Given the description of an element on the screen output the (x, y) to click on. 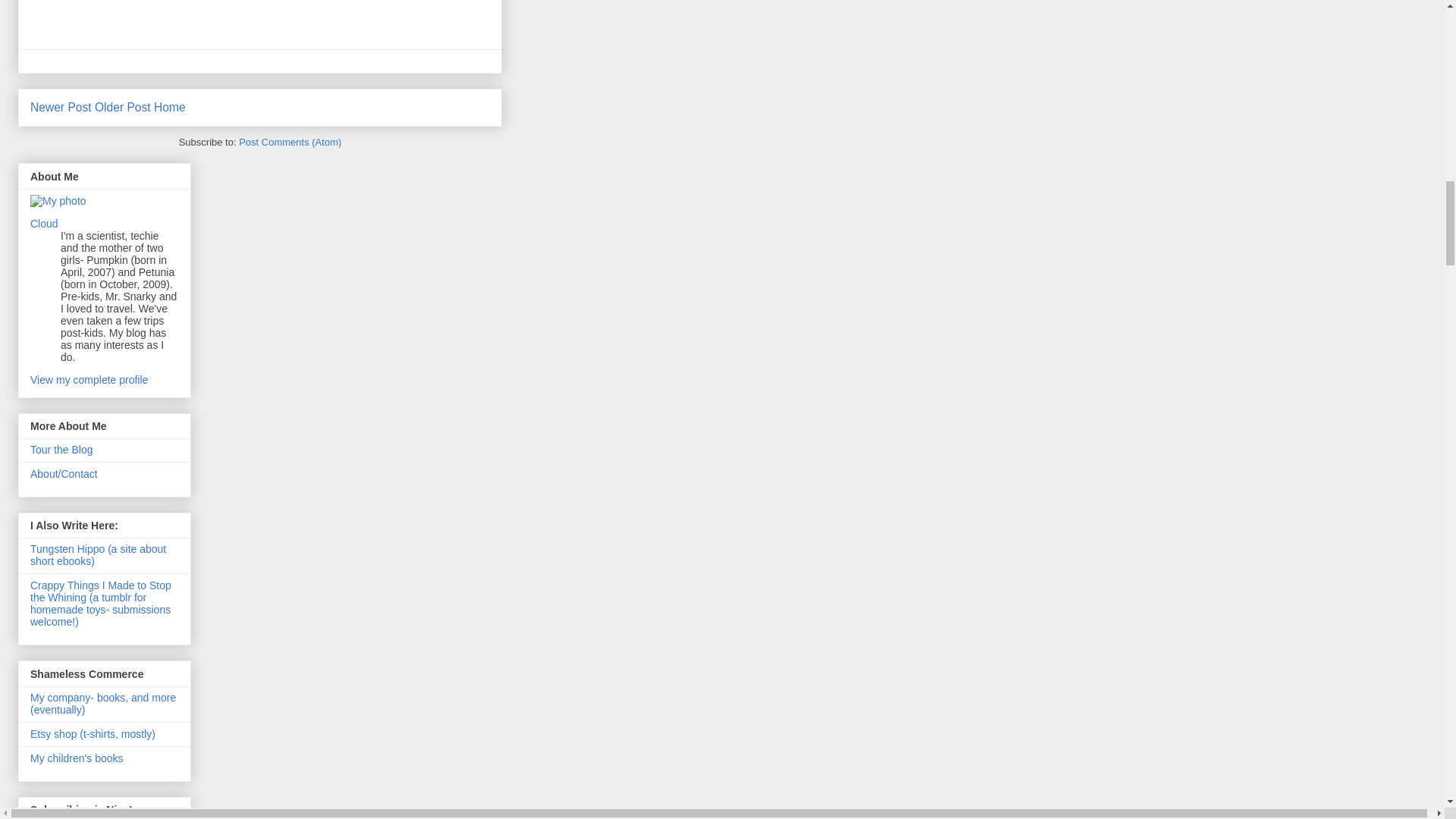
Newer Post (60, 106)
View my complete profile (89, 379)
Older Post (122, 106)
Cloud (44, 223)
Home (170, 106)
Older Post (122, 106)
Newer Post (60, 106)
